Given the description of an element on the screen output the (x, y) to click on. 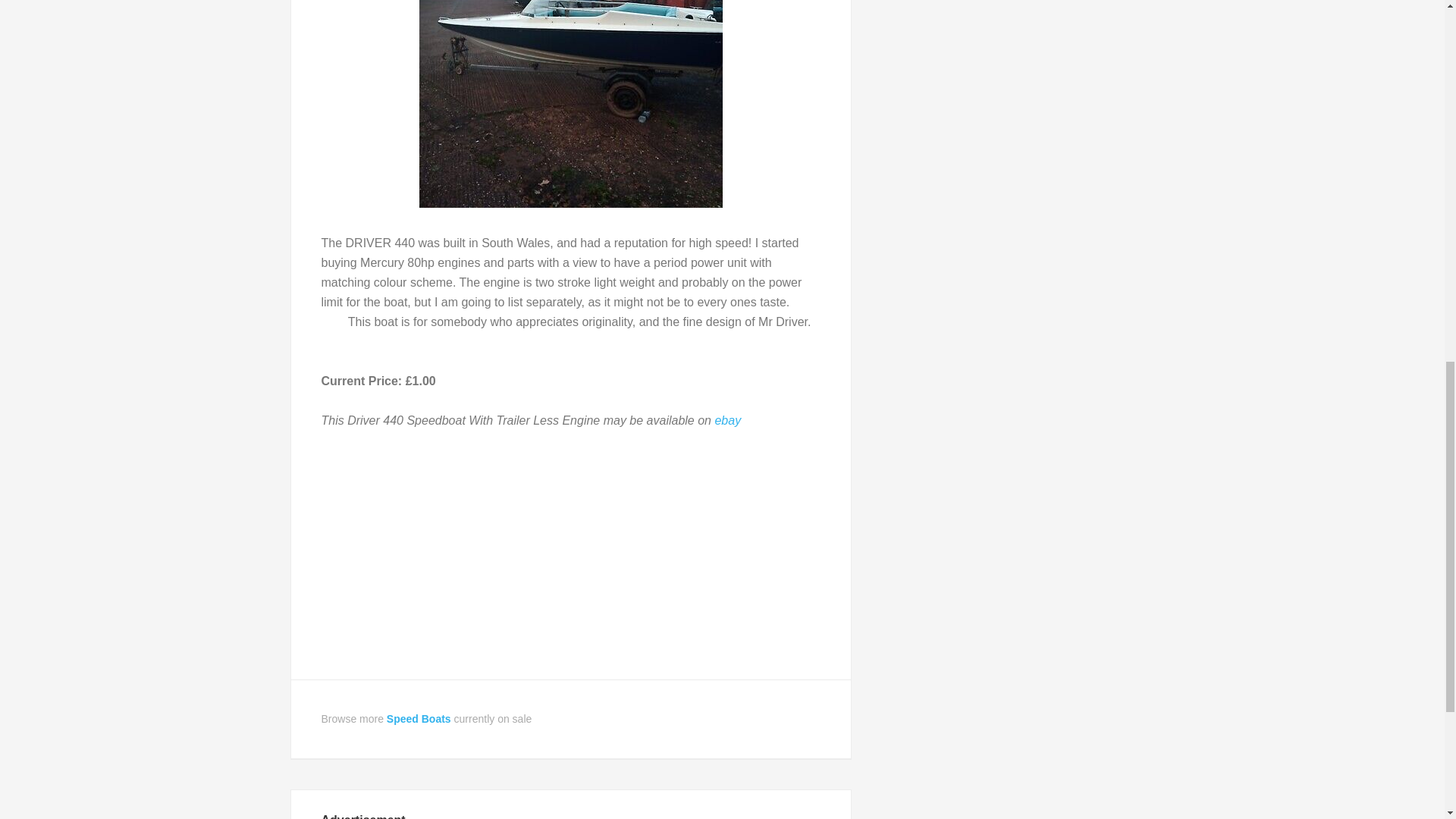
Advertisement (571, 556)
Speed Boats (419, 718)
ebay (727, 420)
